Given the description of an element on the screen output the (x, y) to click on. 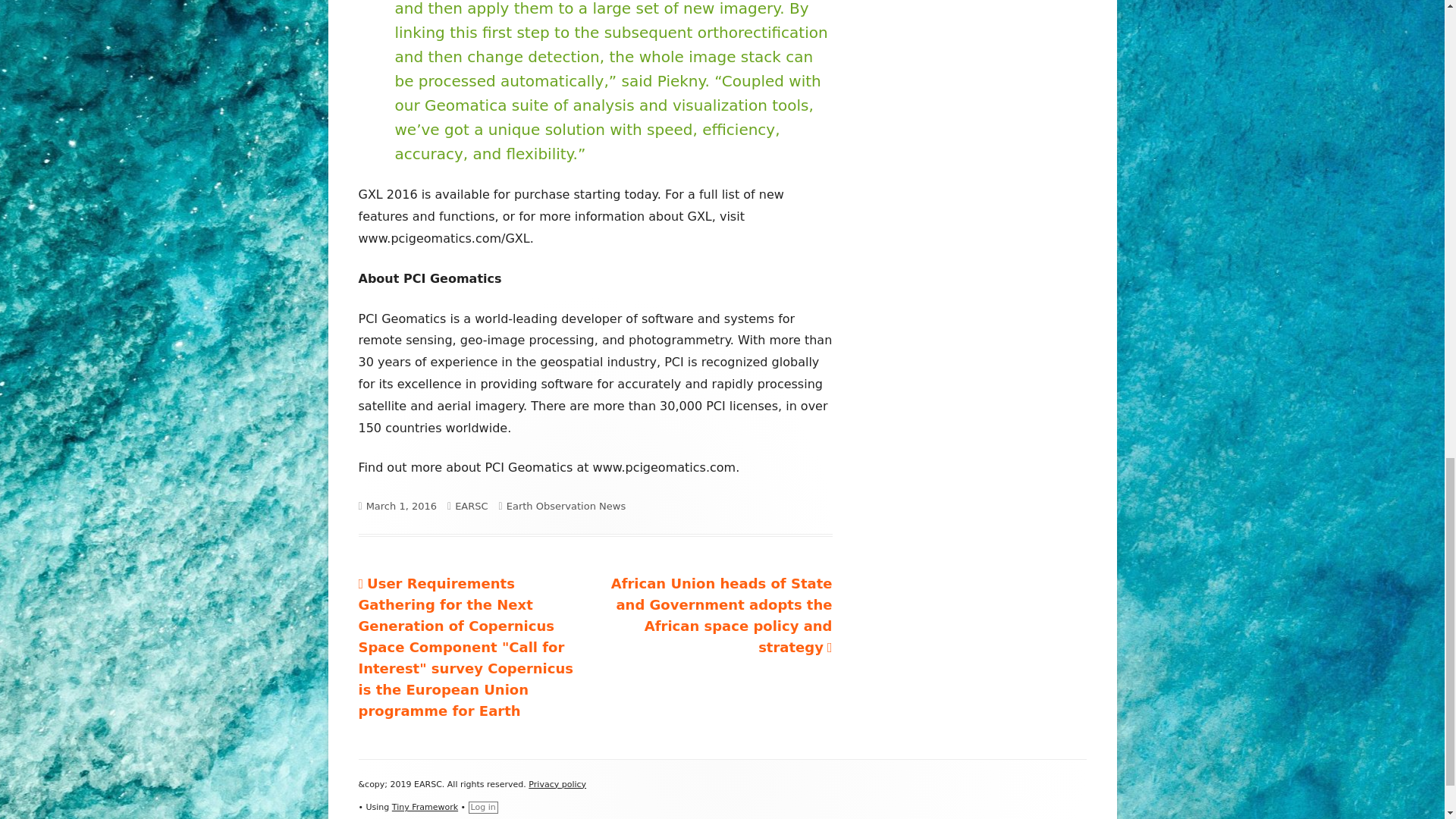
Earth Observation News (566, 505)
Tiny Framework (424, 807)
Privacy policy (557, 784)
EARSC (470, 505)
March 1, 2016 (401, 505)
